Given the description of an element on the screen output the (x, y) to click on. 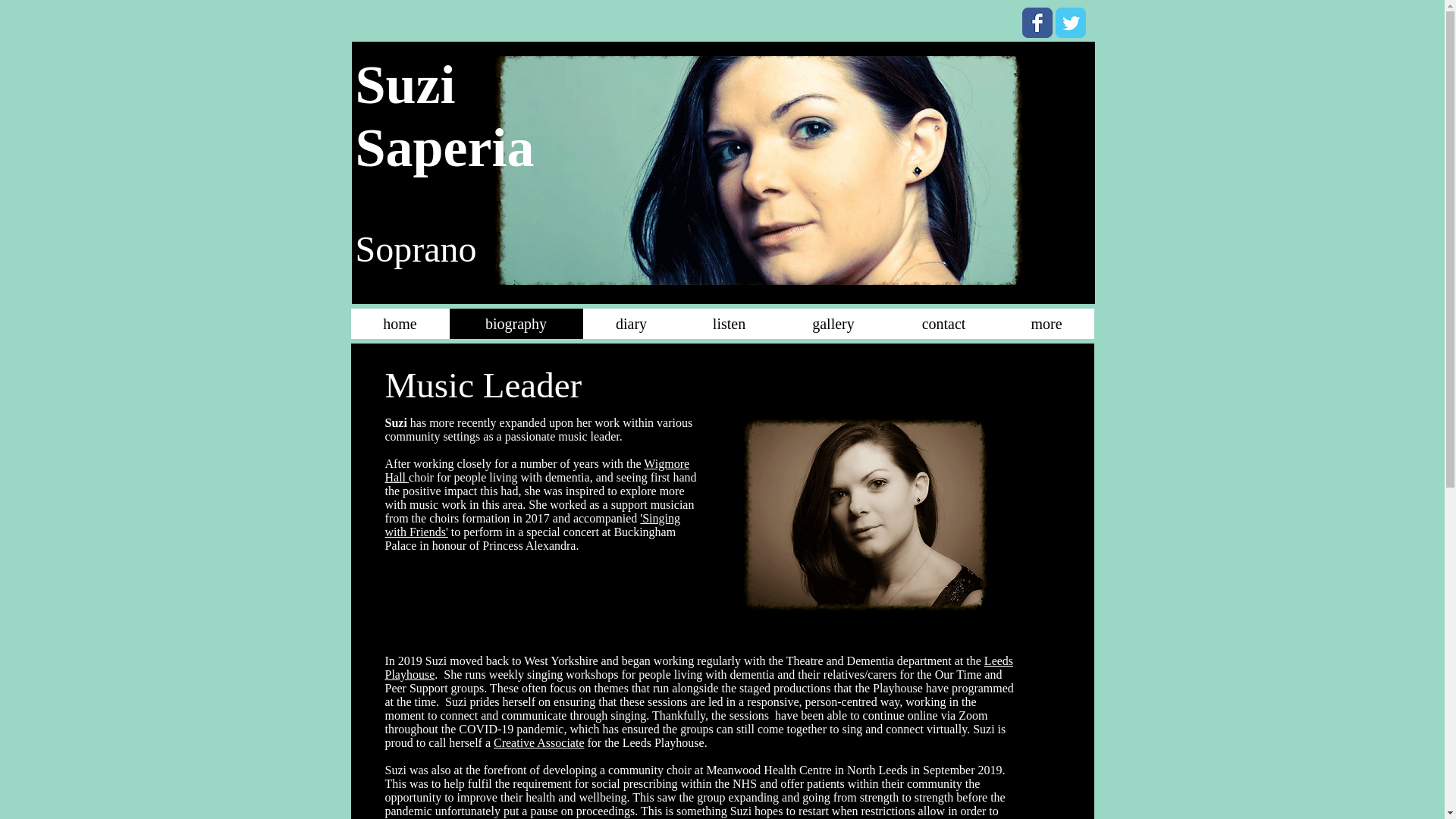
contact (943, 323)
Leeds Playhouse (699, 667)
more (1046, 323)
Wigmore Hall (537, 470)
home (399, 323)
gallery (832, 323)
diary (630, 323)
biography (515, 323)
'Singing with Friends' (532, 524)
Suzi Saperia Soprano (758, 170)
listen (728, 323)
Creative Associate (539, 742)
